Given the description of an element on the screen output the (x, y) to click on. 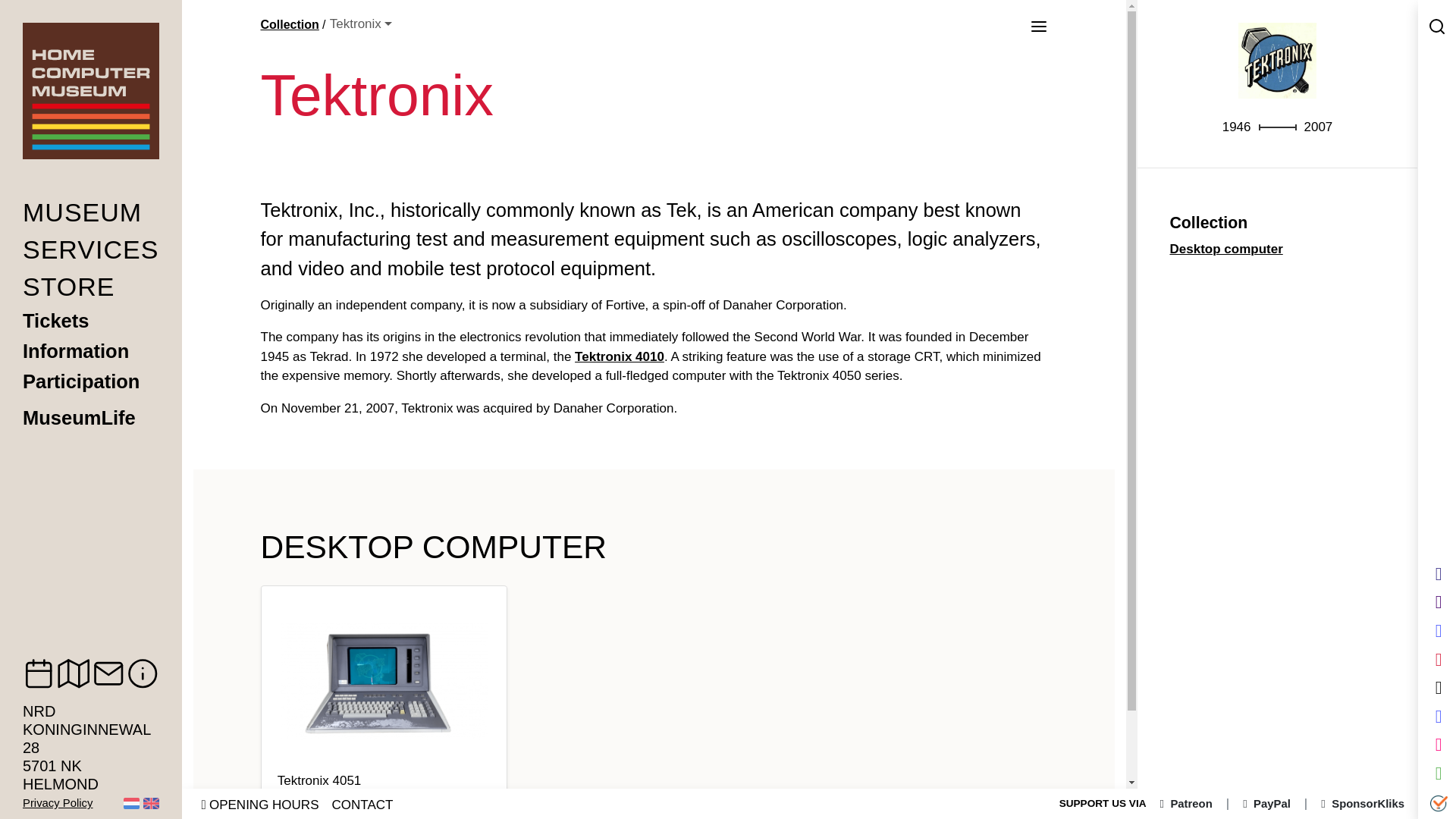
Tektronix (361, 23)
